Given the description of an element on the screen output the (x, y) to click on. 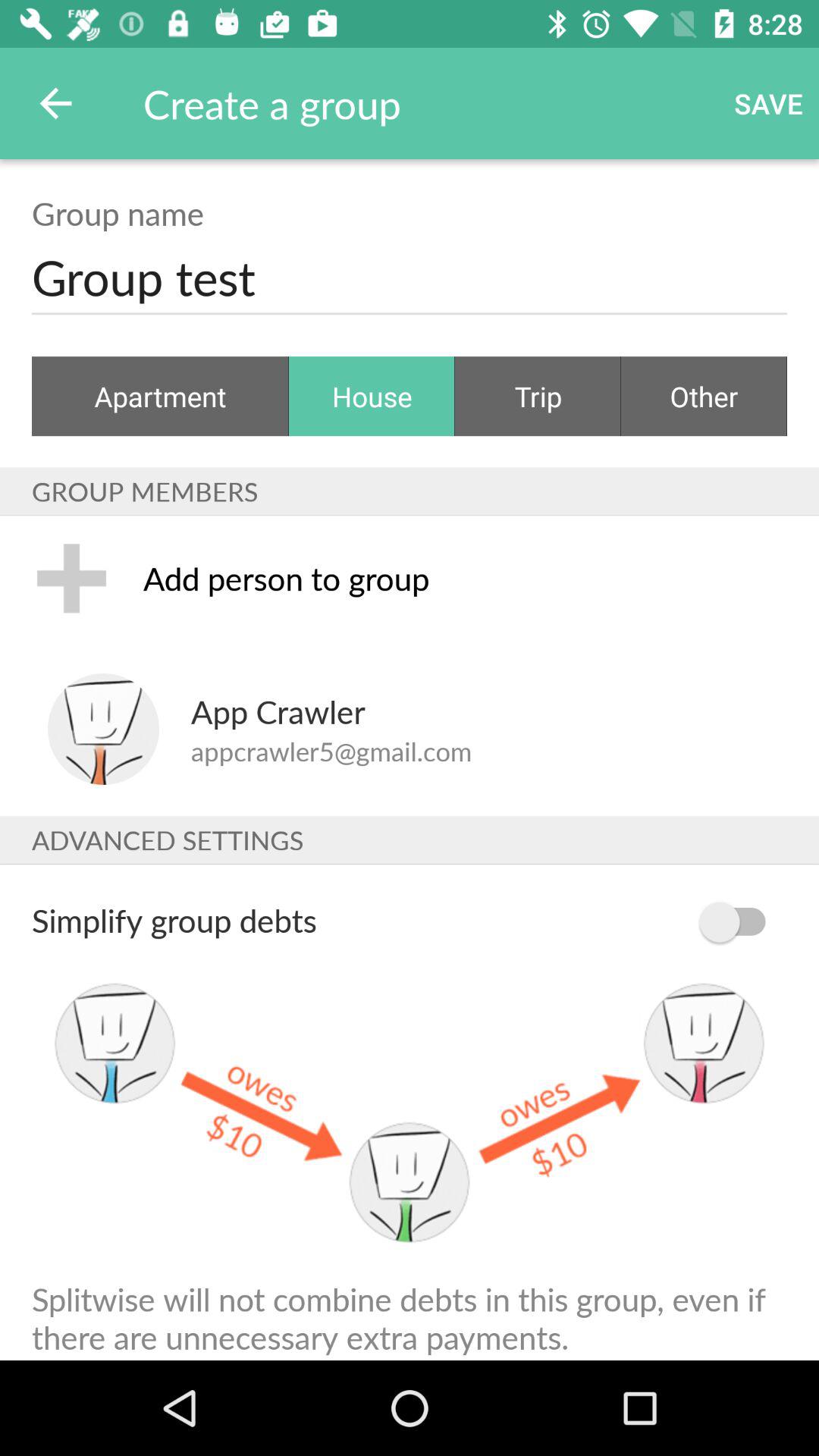
launch the icon to the left of the create a group (55, 103)
